Given the description of an element on the screen output the (x, y) to click on. 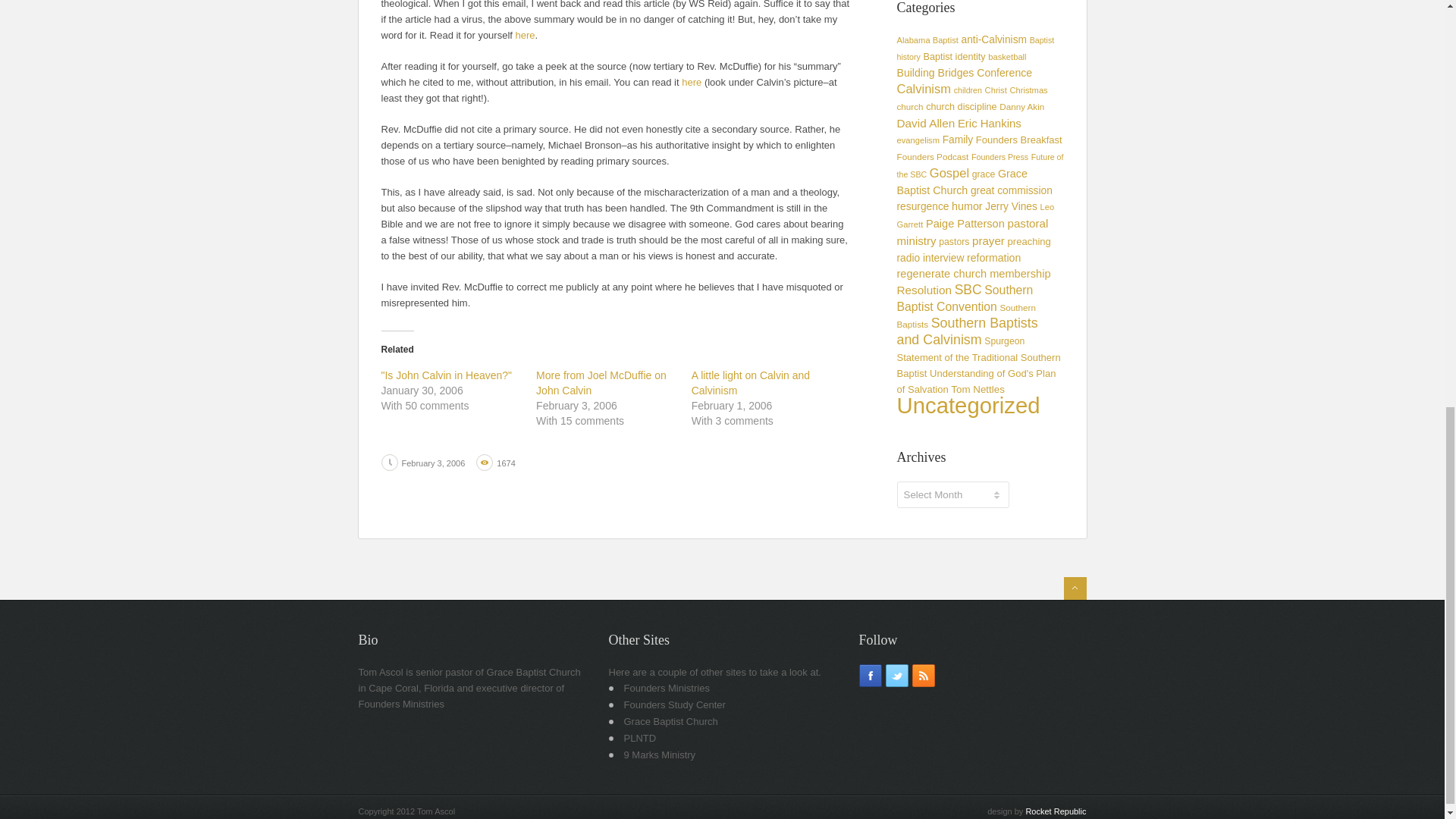
"Is John Calvin in Heaven?" (446, 375)
here (525, 34)
More from Joel McDuffie on John Calvin (600, 382)
A little light on Calvin and Calvinism (750, 382)
here (691, 81)
1674 (505, 462)
